Given the description of an element on the screen output the (x, y) to click on. 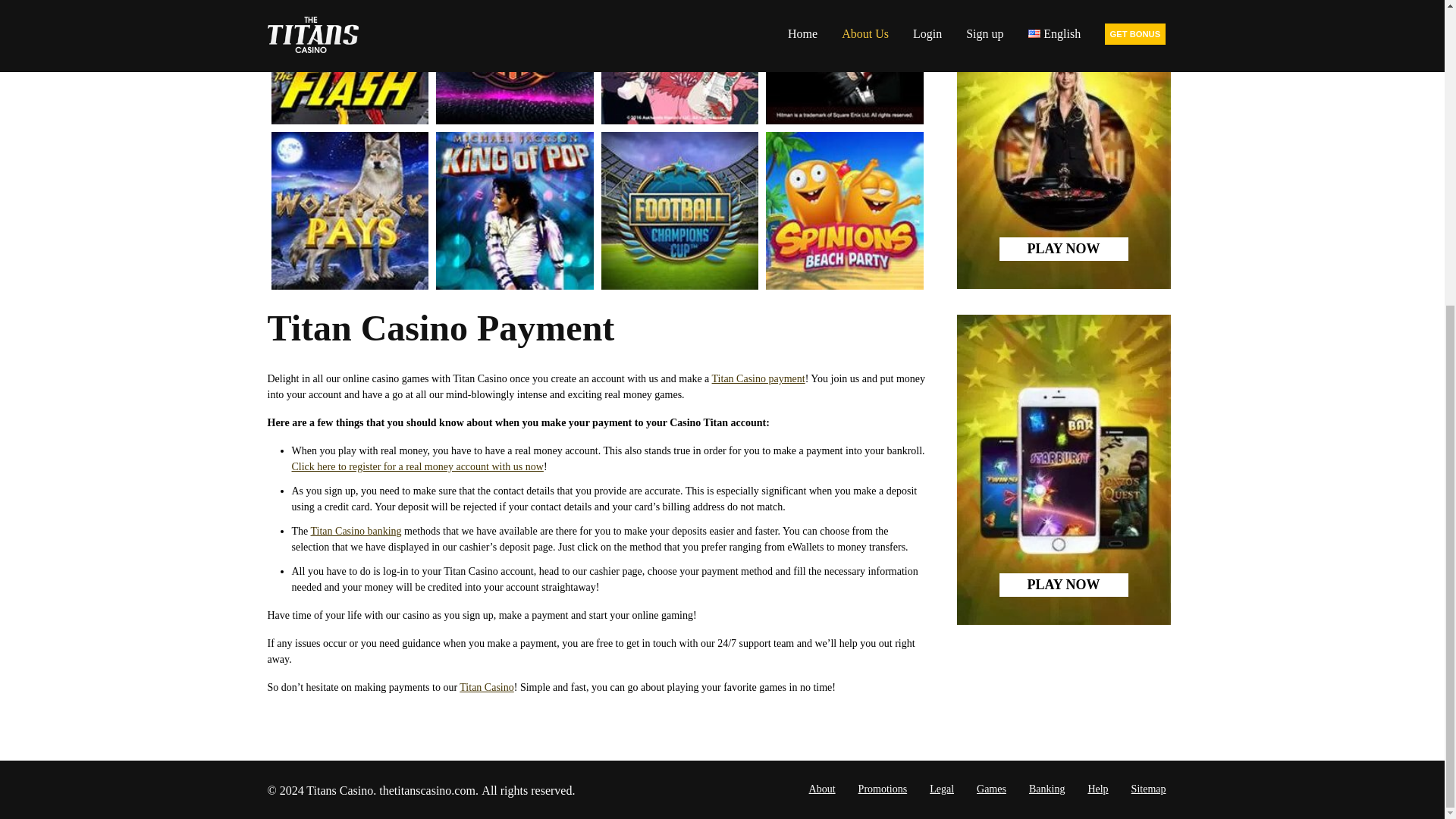
Home (486, 686)
Titan Casino Payment (758, 378)
Titan Casino Banking (356, 531)
Play (417, 466)
